Given the description of an element on the screen output the (x, y) to click on. 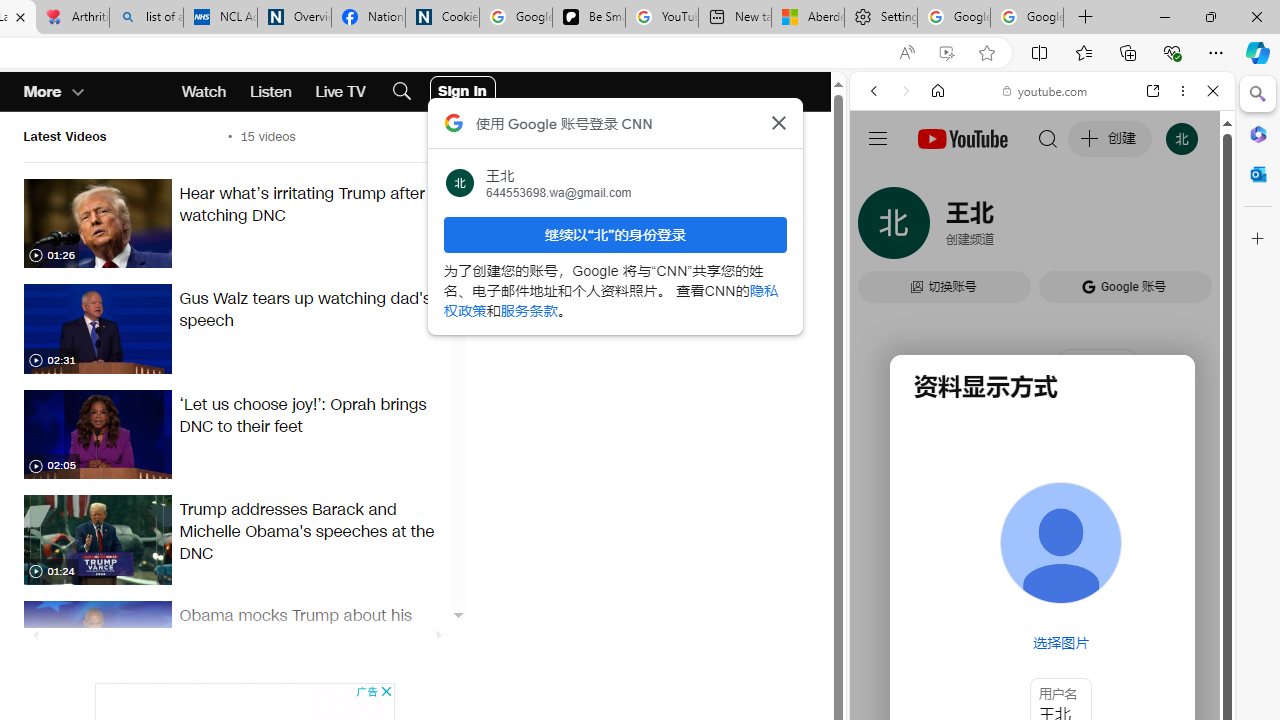
YouTube (1034, 296)
still_20892817_44674.66_still.jpg (97, 434)
AutomationID: cbb (385, 691)
Search Filter, Search Tools (1093, 228)
Be Smart | creating Science videos | Patreon (588, 17)
still_20889119_3870374.503_still.jpg (97, 645)
